Given the description of an element on the screen output the (x, y) to click on. 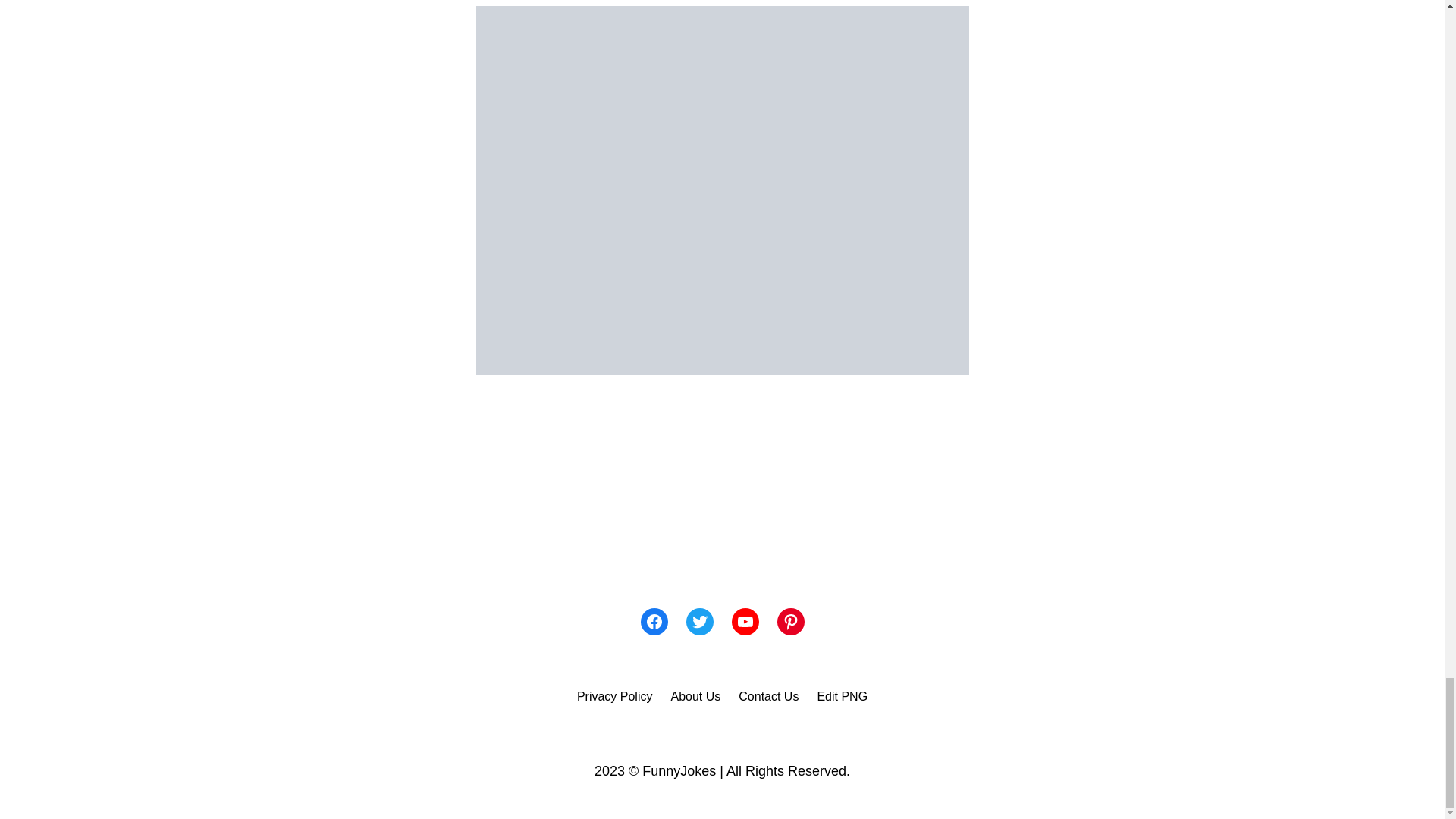
Pinterest (789, 621)
Contact Us (767, 696)
Privacy Policy (614, 696)
About Us (694, 696)
Edit PNG (841, 696)
YouTube (744, 621)
Facebook (653, 621)
Twitter (699, 621)
